Given the description of an element on the screen output the (x, y) to click on. 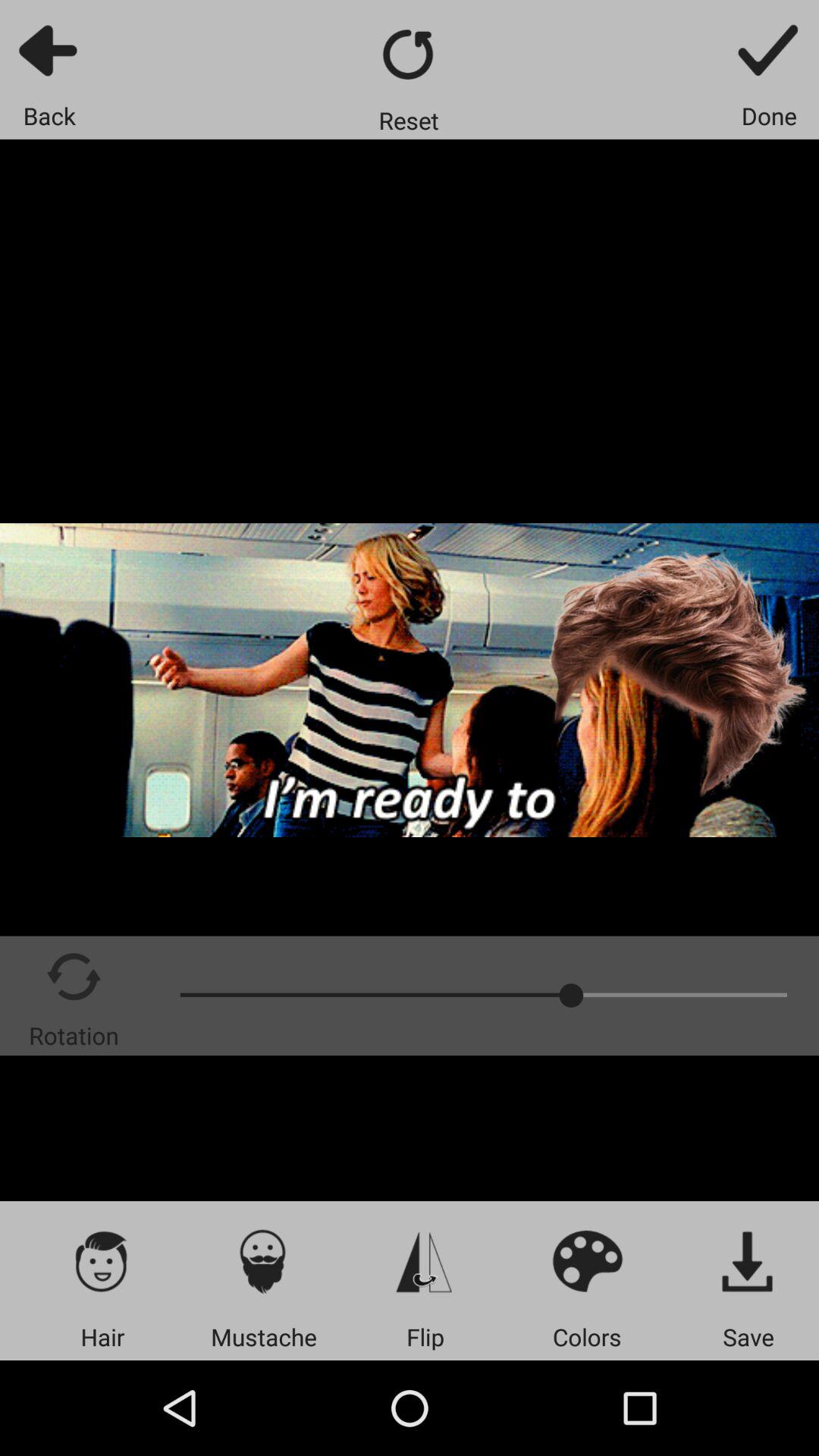
mustache (263, 1260)
